Given the description of an element on the screen output the (x, y) to click on. 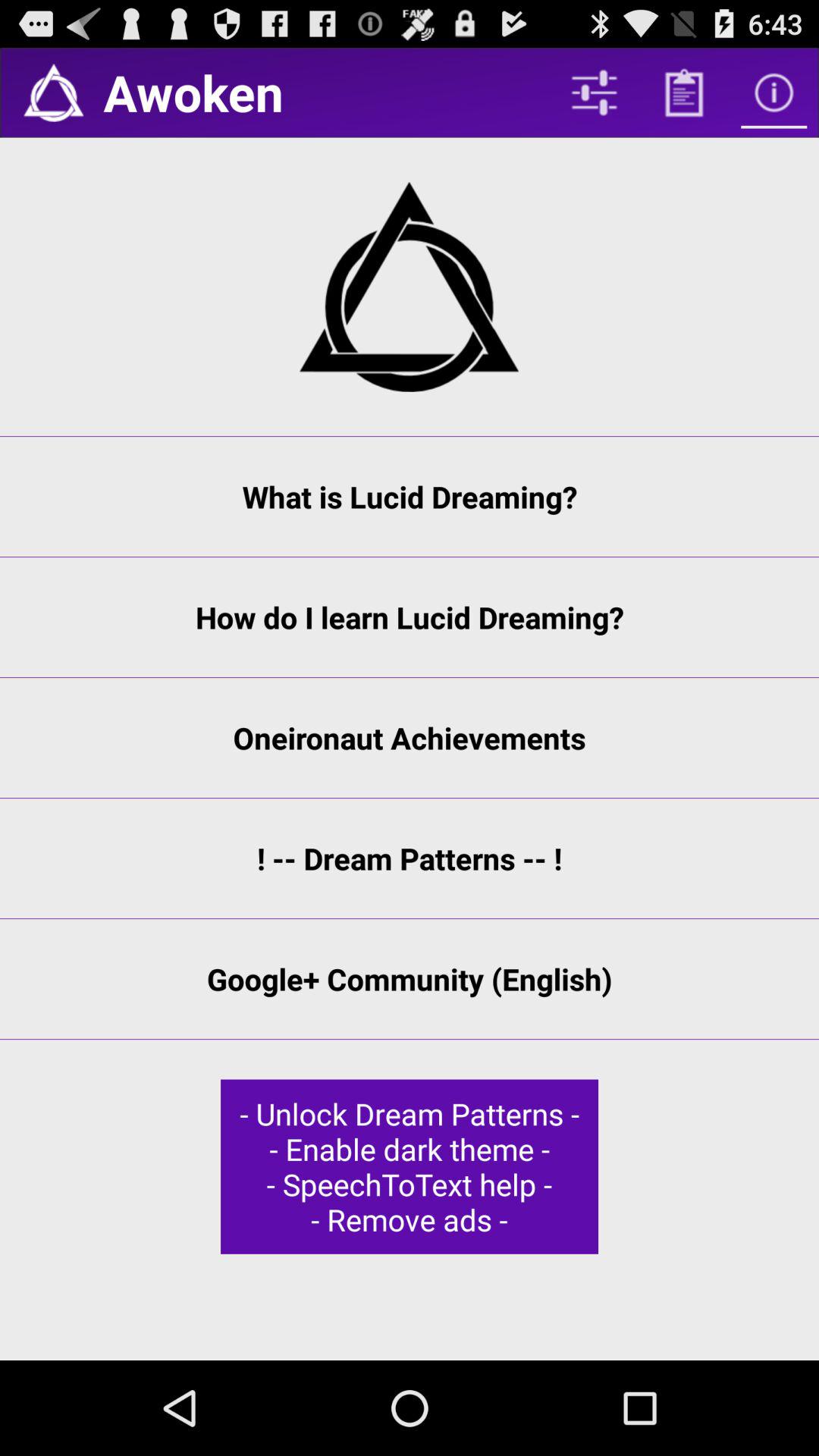
paste journal (684, 92)
